Given the description of an element on the screen output the (x, y) to click on. 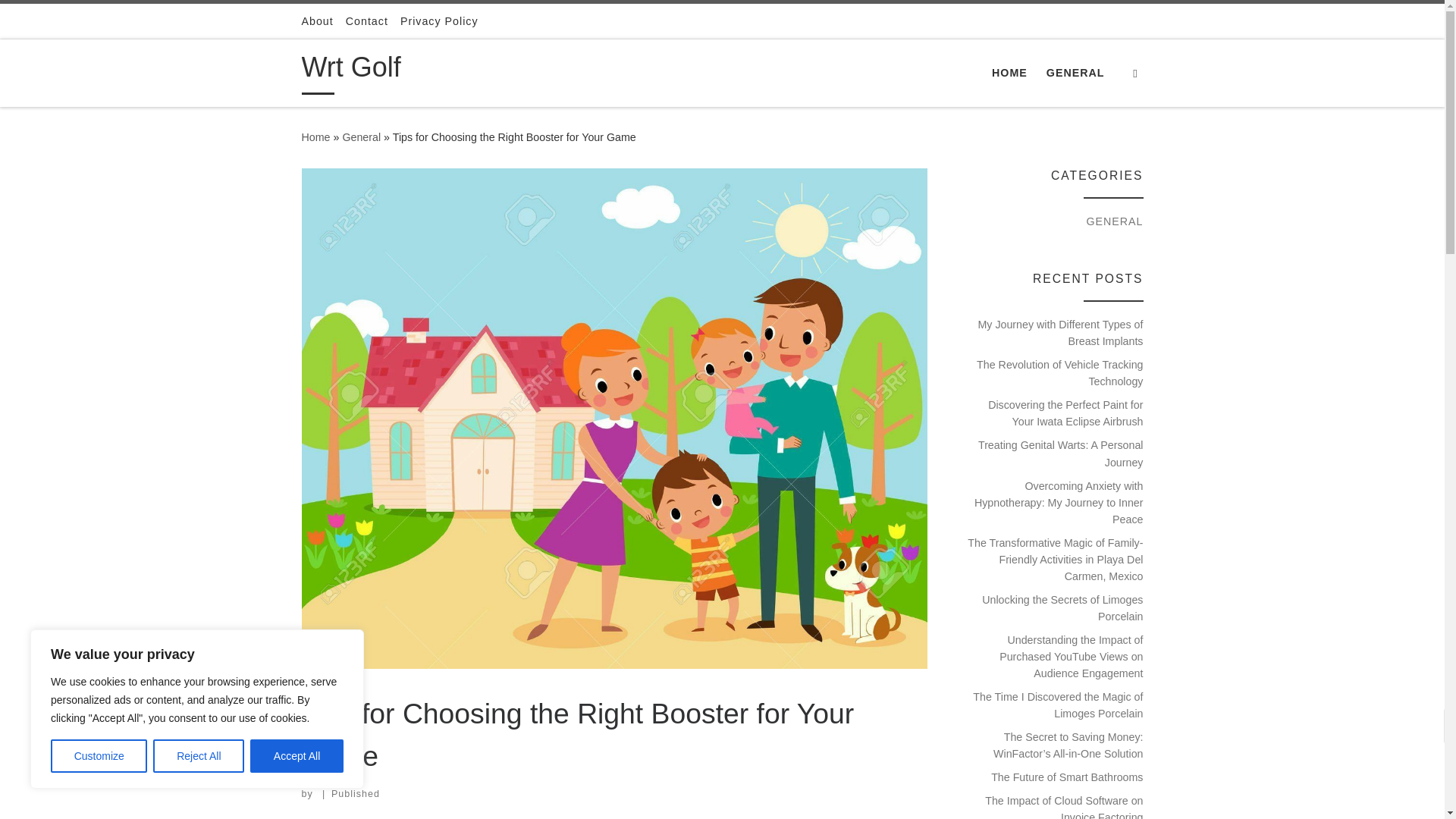
Customize (98, 756)
HOME (1009, 72)
View all posts in General (329, 685)
Privacy Policy (439, 21)
Reject All (198, 756)
GENERAL (329, 685)
General (361, 137)
Accept All (296, 756)
General (361, 137)
Home (315, 137)
Contact (366, 21)
Wrt Golf (315, 137)
GENERAL (1075, 72)
Skip to content (60, 20)
About (317, 21)
